Given the description of an element on the screen output the (x, y) to click on. 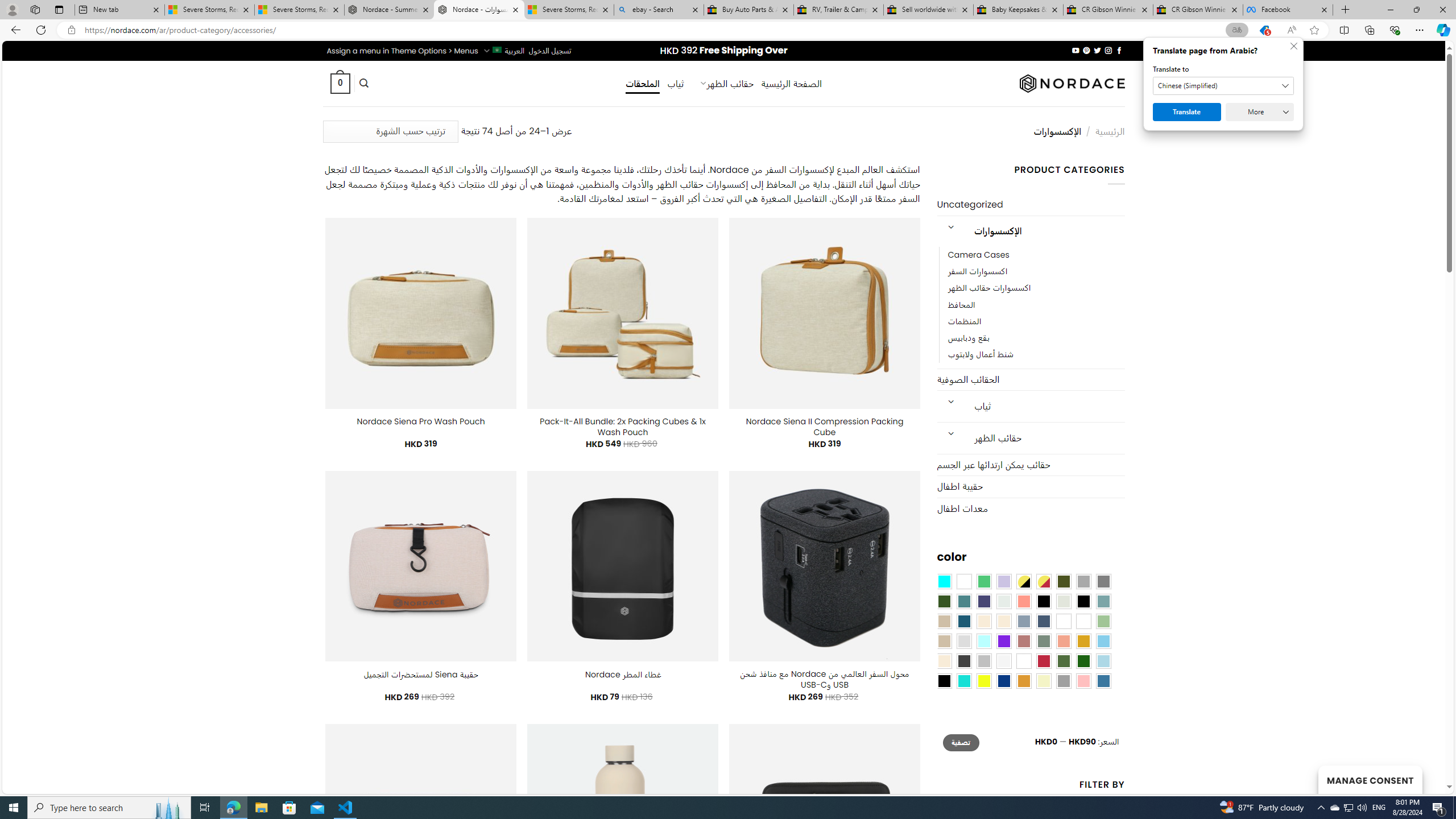
Follow on YouTube (1074, 50)
Translate to (1223, 85)
